Given the description of an element on the screen output the (x, y) to click on. 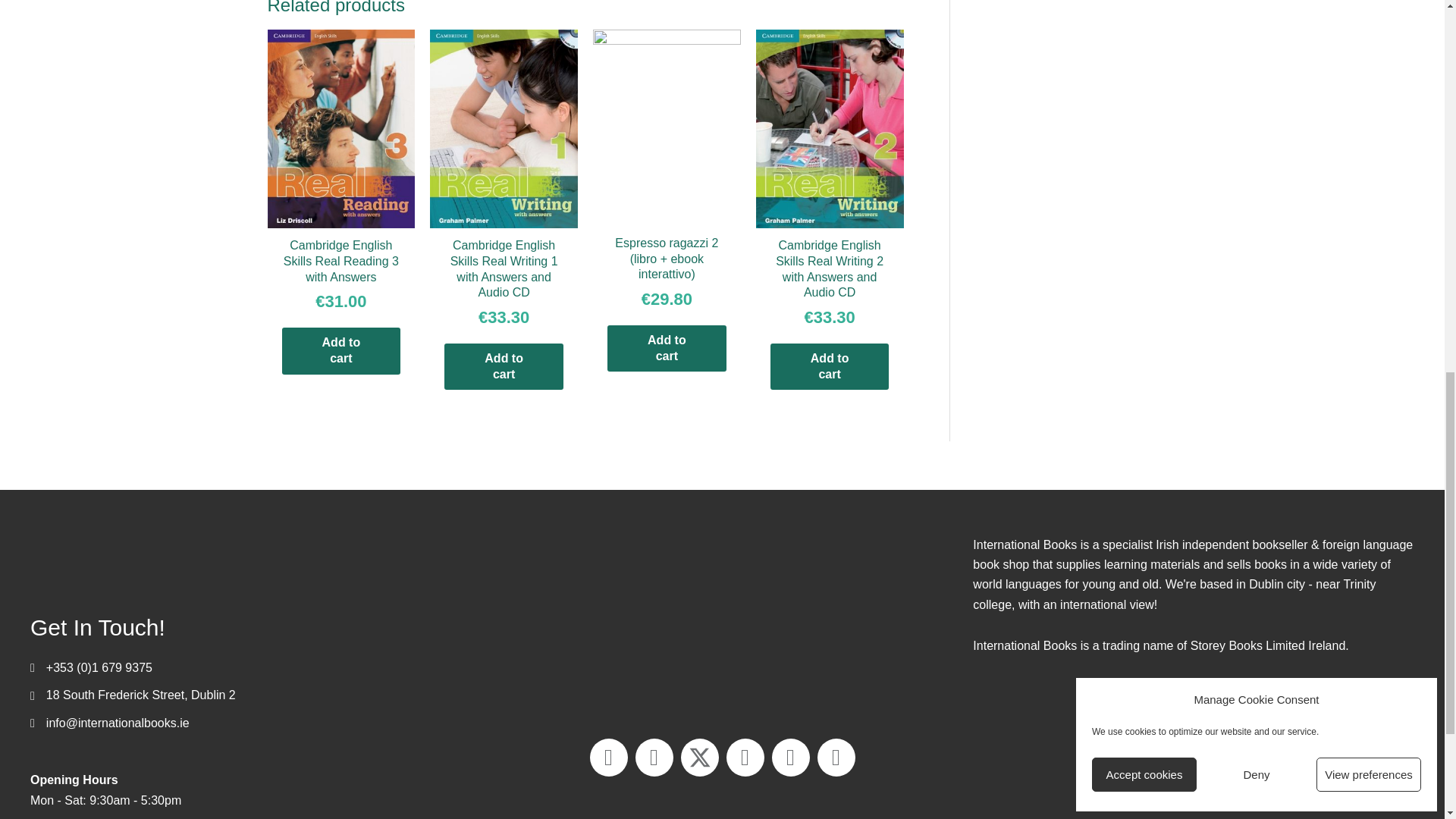
logo-white (181, 558)
TikTok (836, 757)
logo-leo (1193, 763)
Facebook (653, 757)
logo-stripe-secure-payments-1 (722, 621)
Instagram (790, 757)
Email (608, 757)
